Given the description of an element on the screen output the (x, y) to click on. 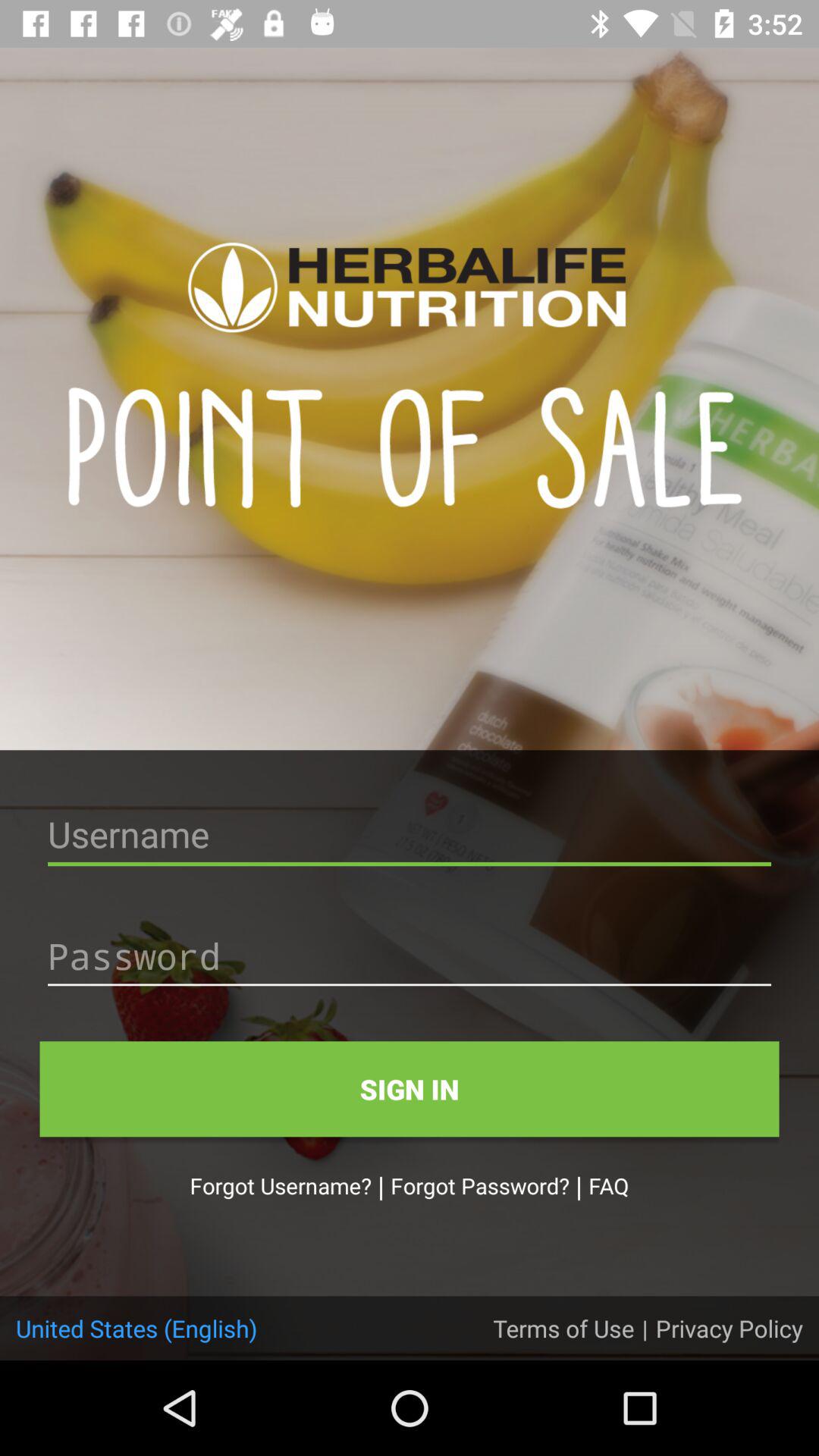
click icon to the right of | item (729, 1328)
